Given the description of an element on the screen output the (x, y) to click on. 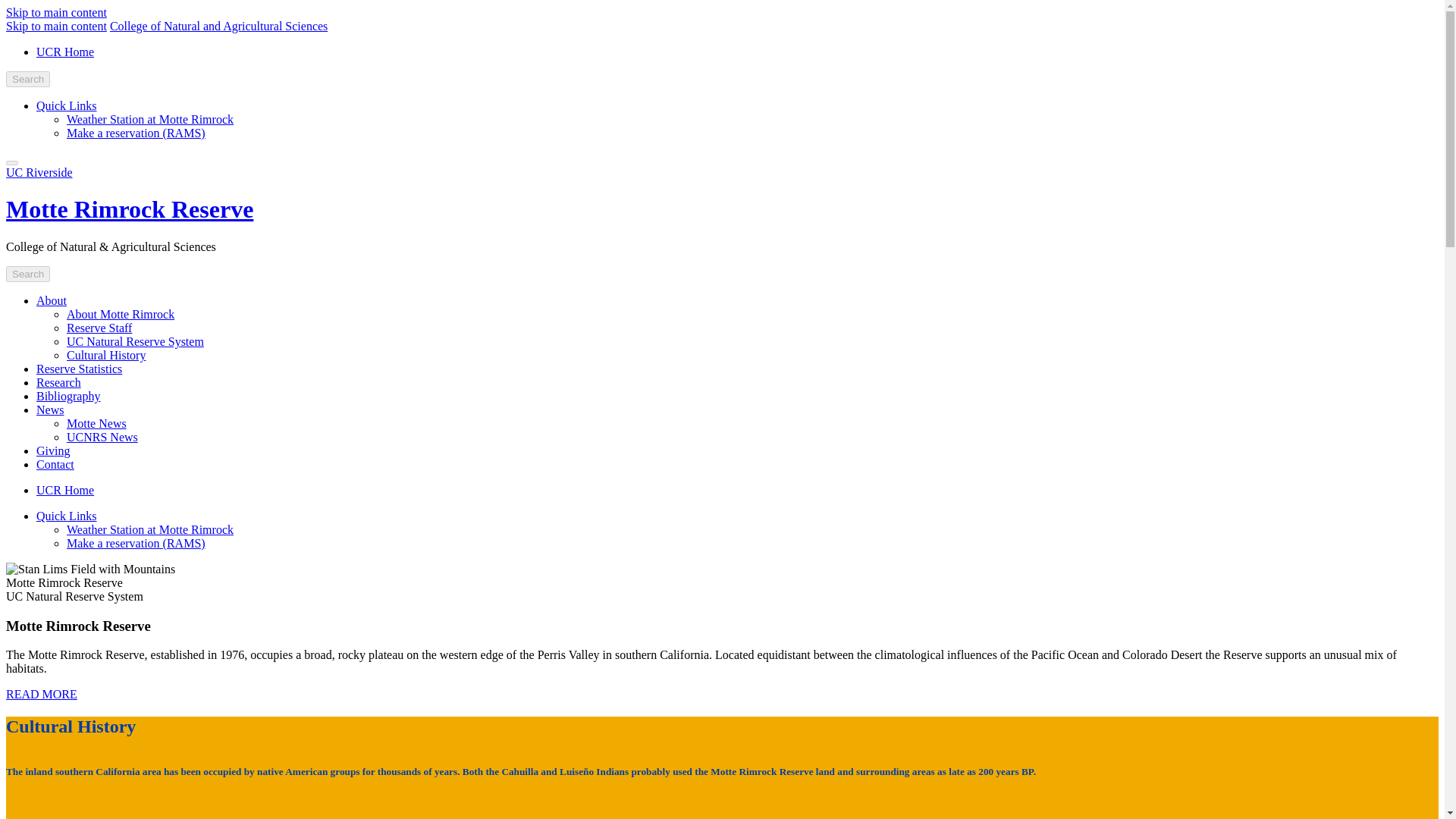
Skip to main content (55, 25)
Giving (52, 450)
READ MORE (41, 694)
UC Natural Reserve System (134, 341)
Search (27, 273)
UC Riverside (38, 172)
Cultural History (105, 354)
Quick Links (66, 515)
About (51, 300)
Weather Station at Motte Rimrock (149, 529)
